Given the description of an element on the screen output the (x, y) to click on. 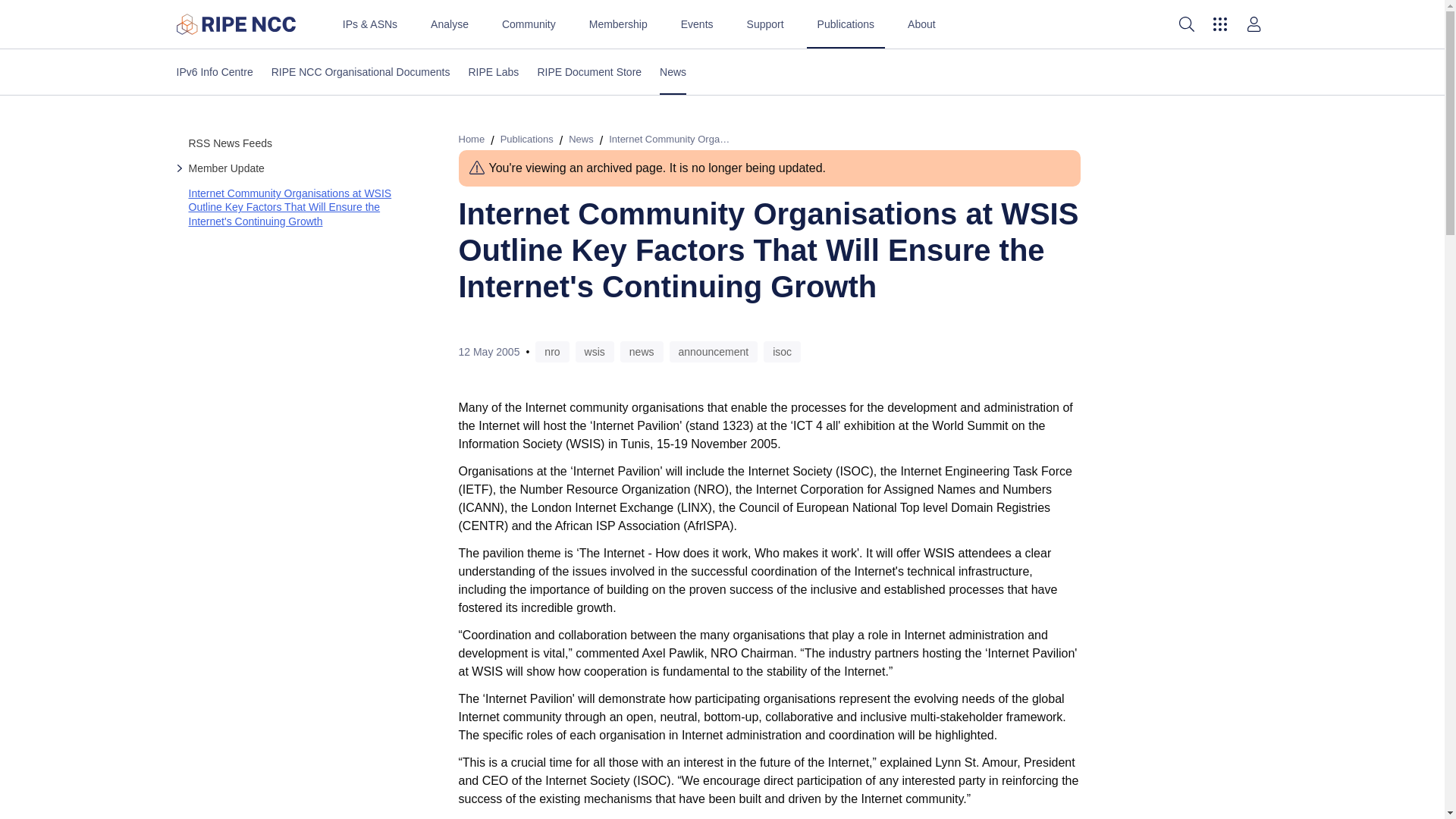
Go to homepage (235, 23)
Publication date: 12 May 2005 (488, 351)
Analyse (449, 24)
